Given the description of an element on the screen output the (x, y) to click on. 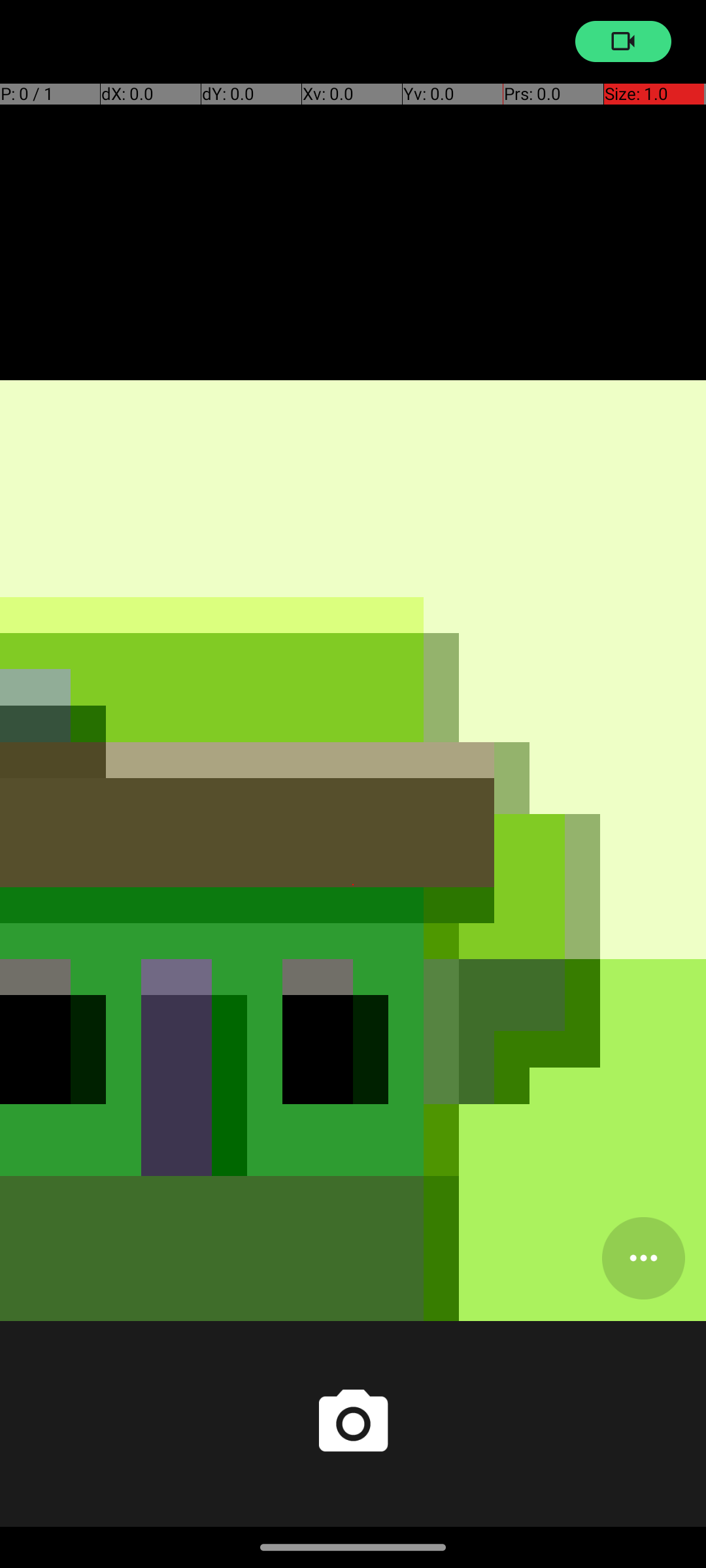
Applications are using your camera. Element type: android.widget.FrameLayout (623, 41)
